Given the description of an element on the screen output the (x, y) to click on. 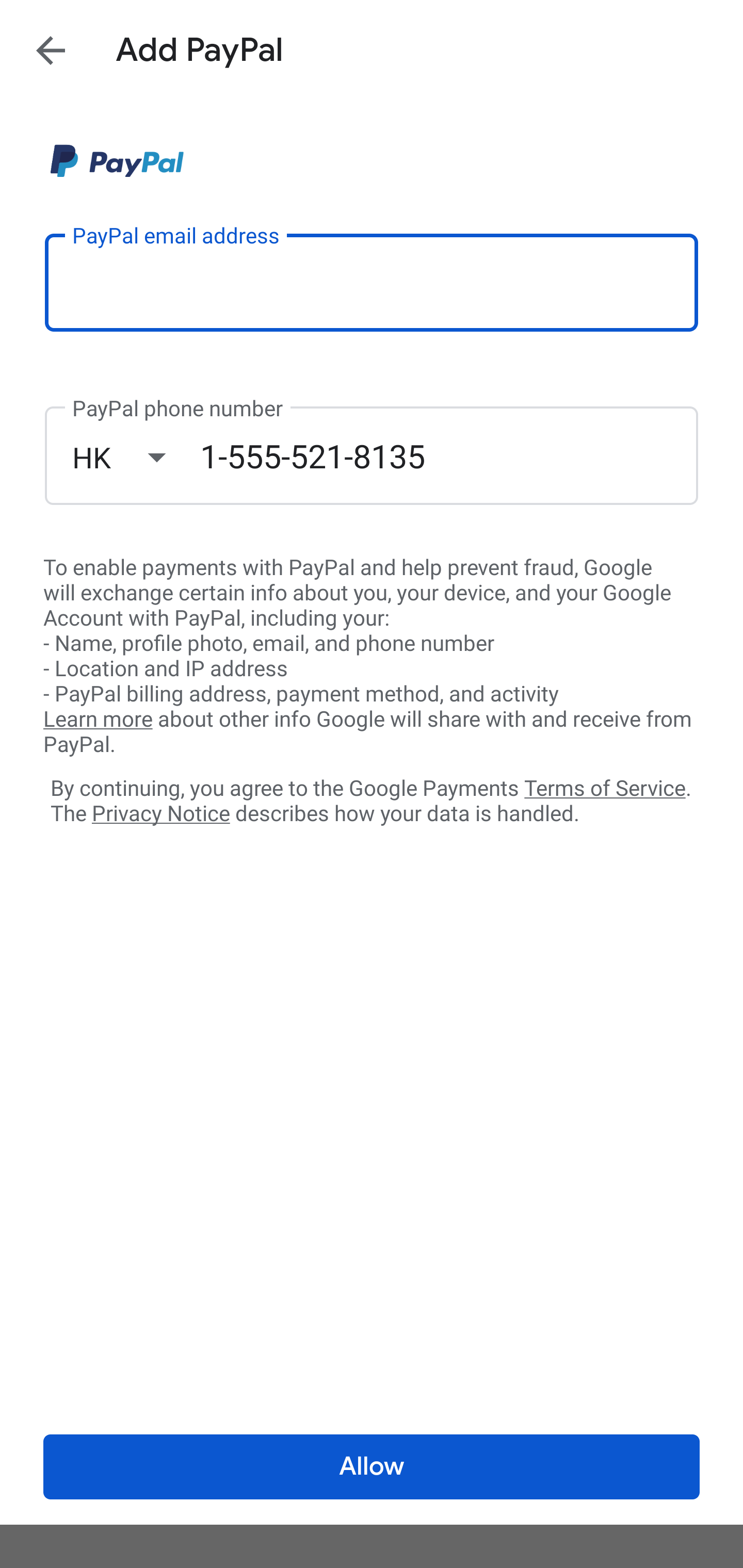
Navigate up (50, 50)
PayPal email address (371, 282)
HK (135, 456)
Learn more (97, 719)
Terms of Service (604, 787)
Privacy Notice (160, 814)
Allow (371, 1466)
